Given the description of an element on the screen output the (x, y) to click on. 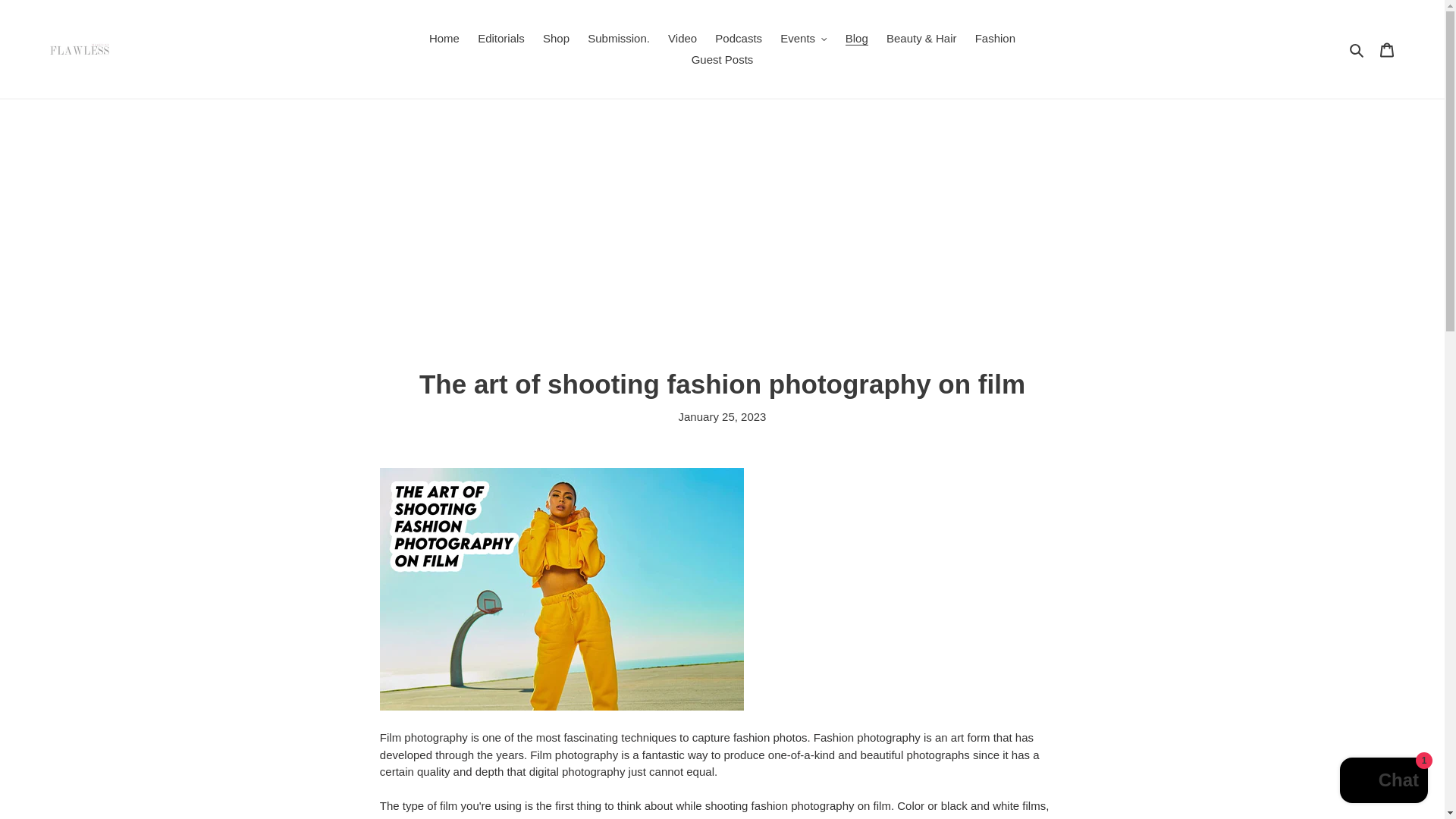
Blog (857, 38)
Fashion (995, 38)
Submission. (618, 38)
Shop (555, 38)
Cart (1387, 49)
Video (682, 38)
Guest Posts (722, 60)
Home (444, 38)
Shopify online store chat (1383, 781)
Editorials (501, 38)
Events (803, 38)
Podcasts (738, 38)
Search (1357, 49)
